Given the description of an element on the screen output the (x, y) to click on. 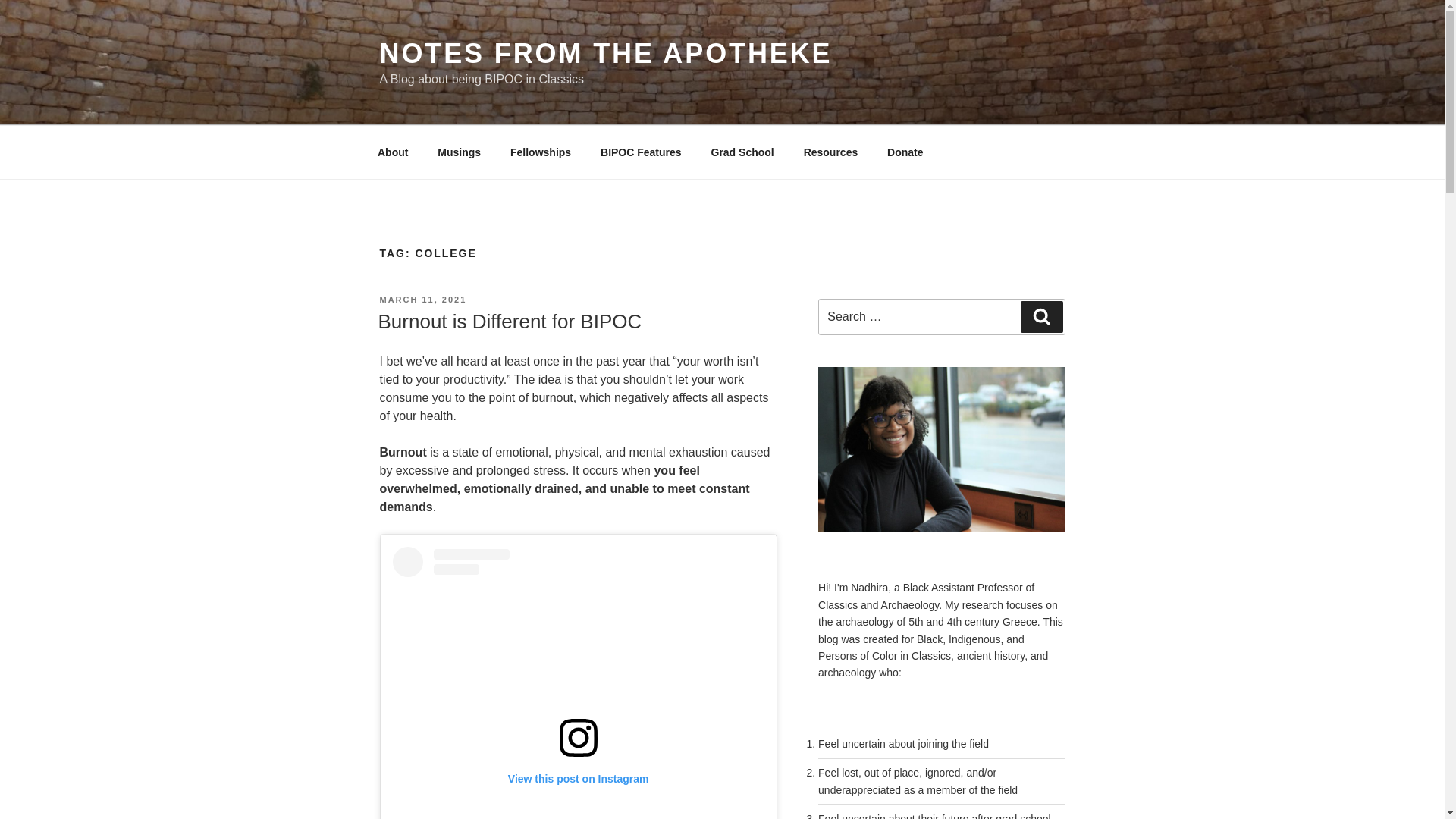
Burnout is Different for BIPOC (509, 321)
NOTES FROM THE APOTHEKE (604, 52)
Resources (830, 151)
Fellowships (541, 151)
Musings (460, 151)
View this post on Instagram (578, 683)
Grad School (742, 151)
Search (1041, 316)
About (392, 151)
Donate (905, 151)
MARCH 11, 2021 (421, 298)
BIPOC Features (641, 151)
